Given the description of an element on the screen output the (x, y) to click on. 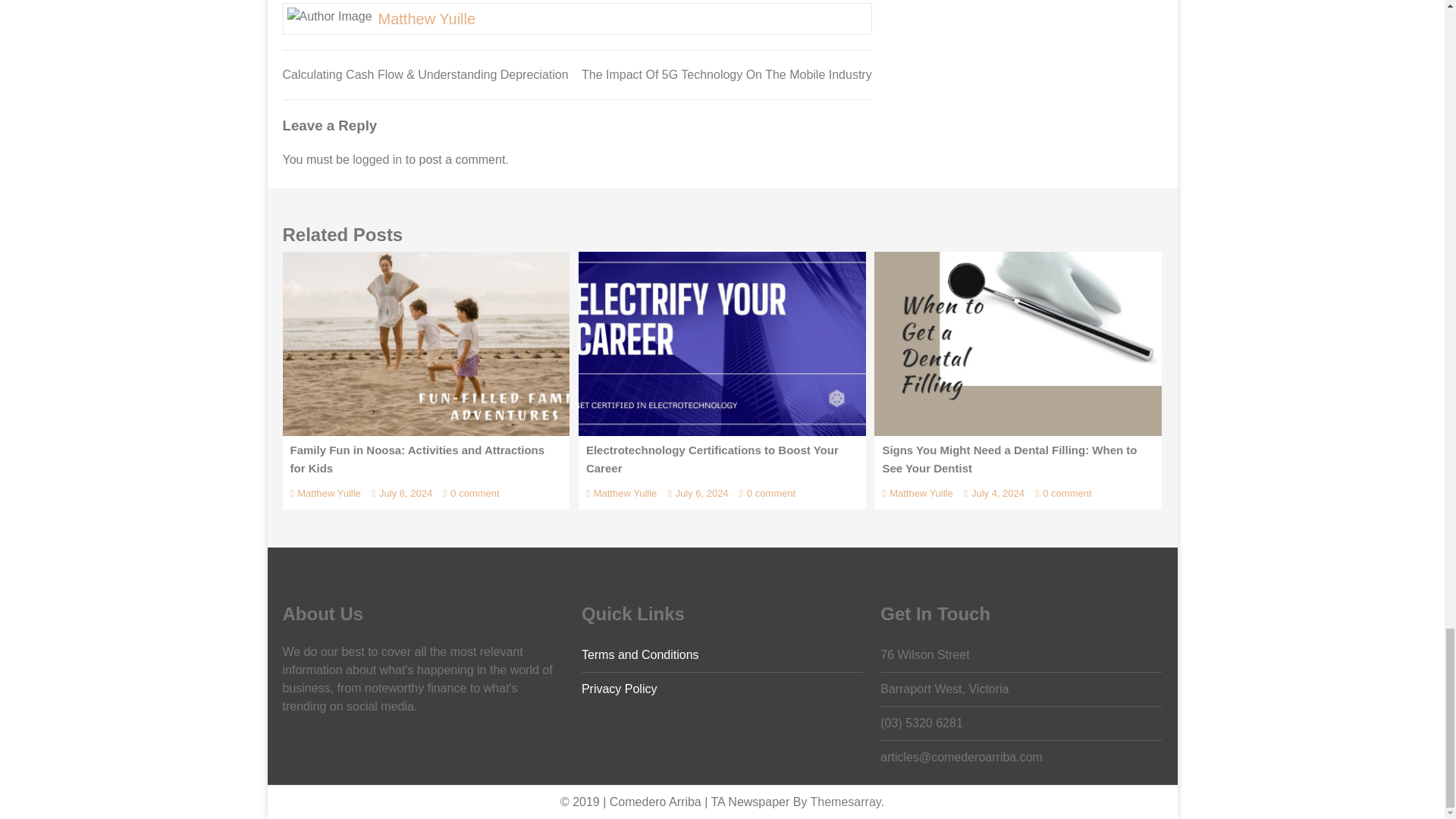
Electrotechnology Certifications to Boost Your Career (722, 343)
Family Fun in Noosa: Activities and Attractions for Kids (425, 343)
The Impact Of 5G Technology On The Mobile Industry (726, 74)
Author Image (328, 16)
logged in (376, 159)
